Given the description of an element on the screen output the (x, y) to click on. 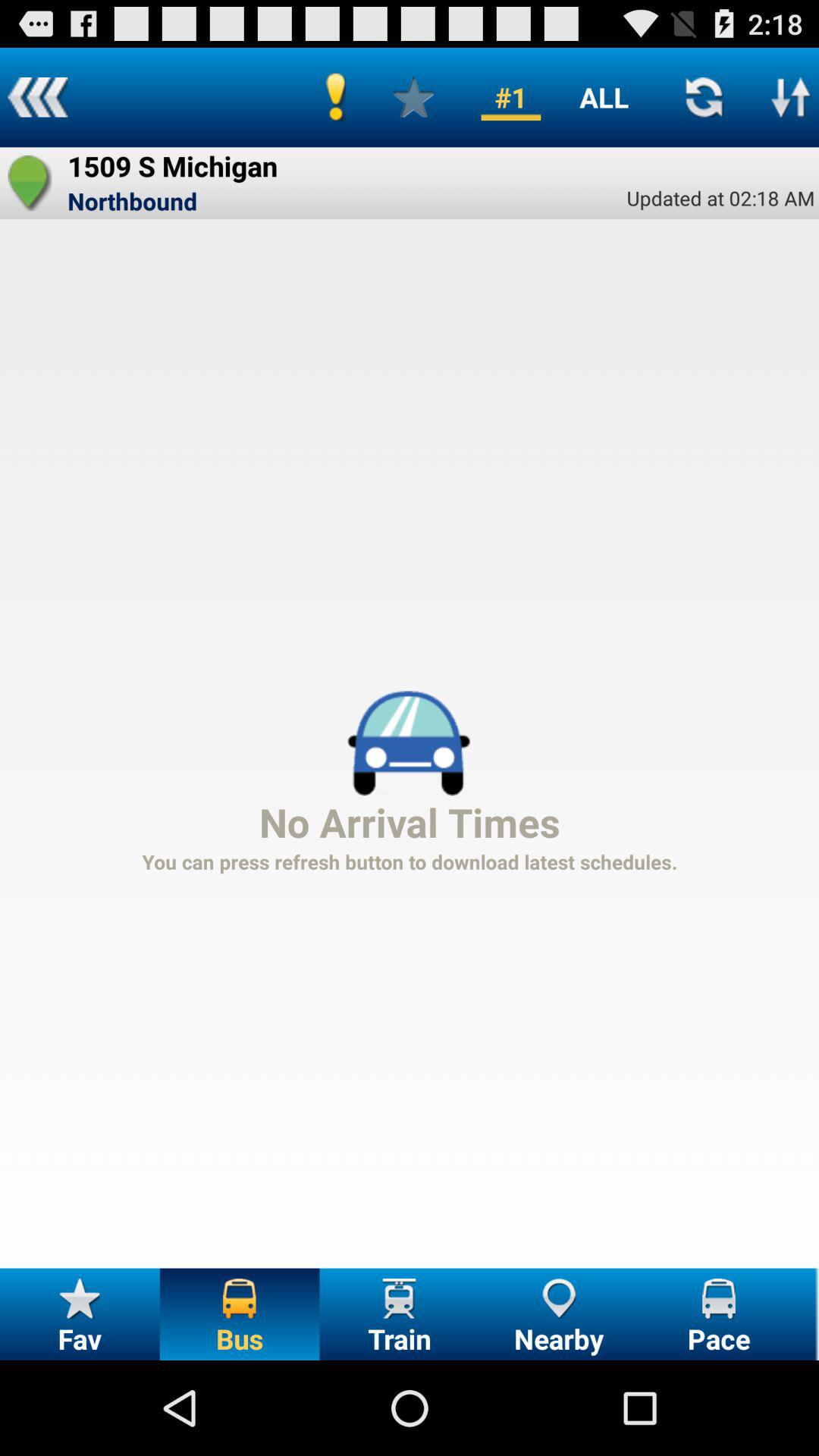
view stop schedules (791, 97)
